Given the description of an element on the screen output the (x, y) to click on. 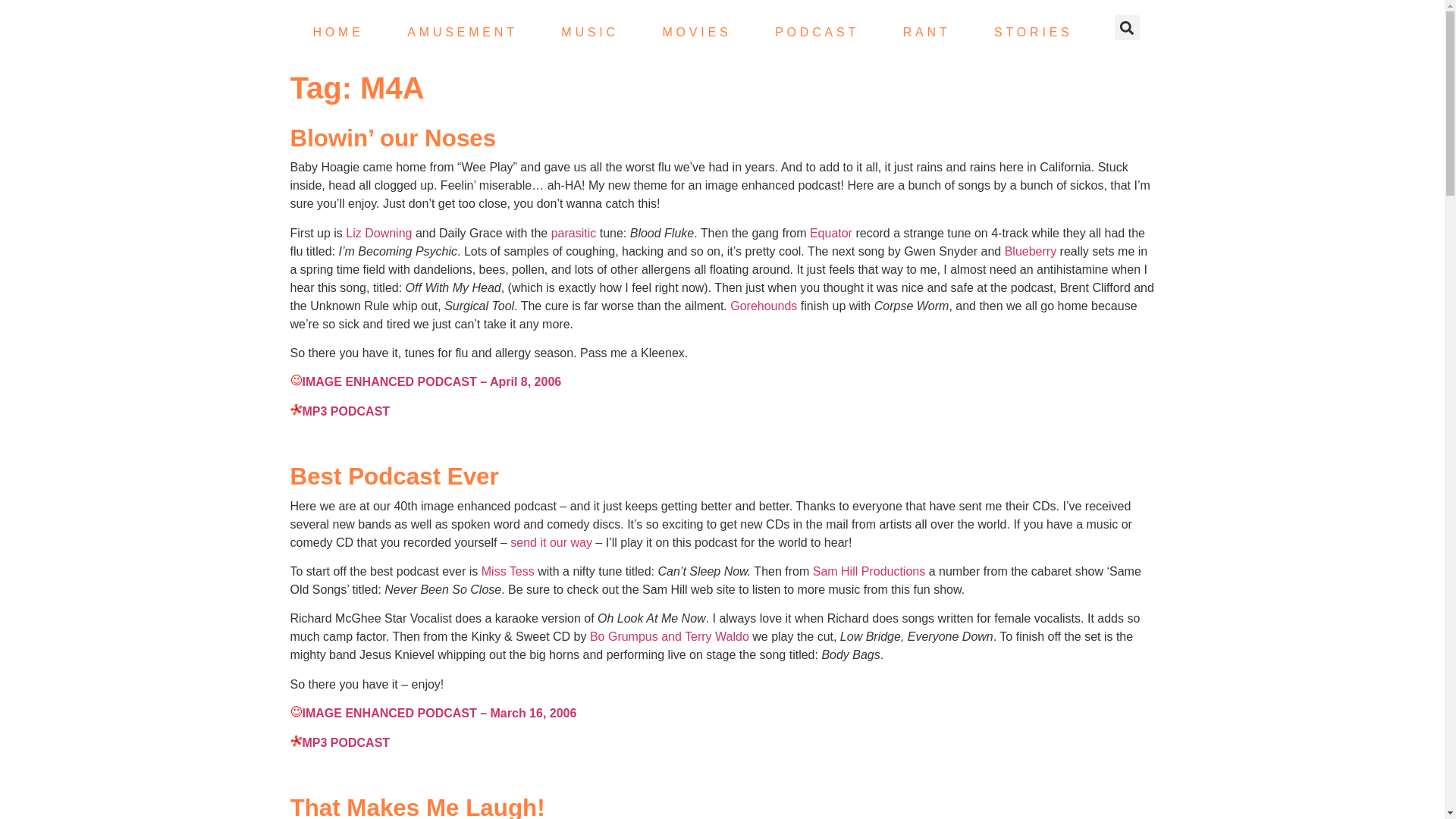
HOME (337, 32)
STORIES (1032, 32)
Miss Tess (507, 571)
Gorehounds (763, 305)
Blueberry (1030, 250)
MP3 PODCAST (339, 410)
Best Podcast Ever (393, 476)
MOVIES (695, 32)
Liz Downing (379, 232)
Bo Grumpus and Terry Waldo (669, 635)
